Given the description of an element on the screen output the (x, y) to click on. 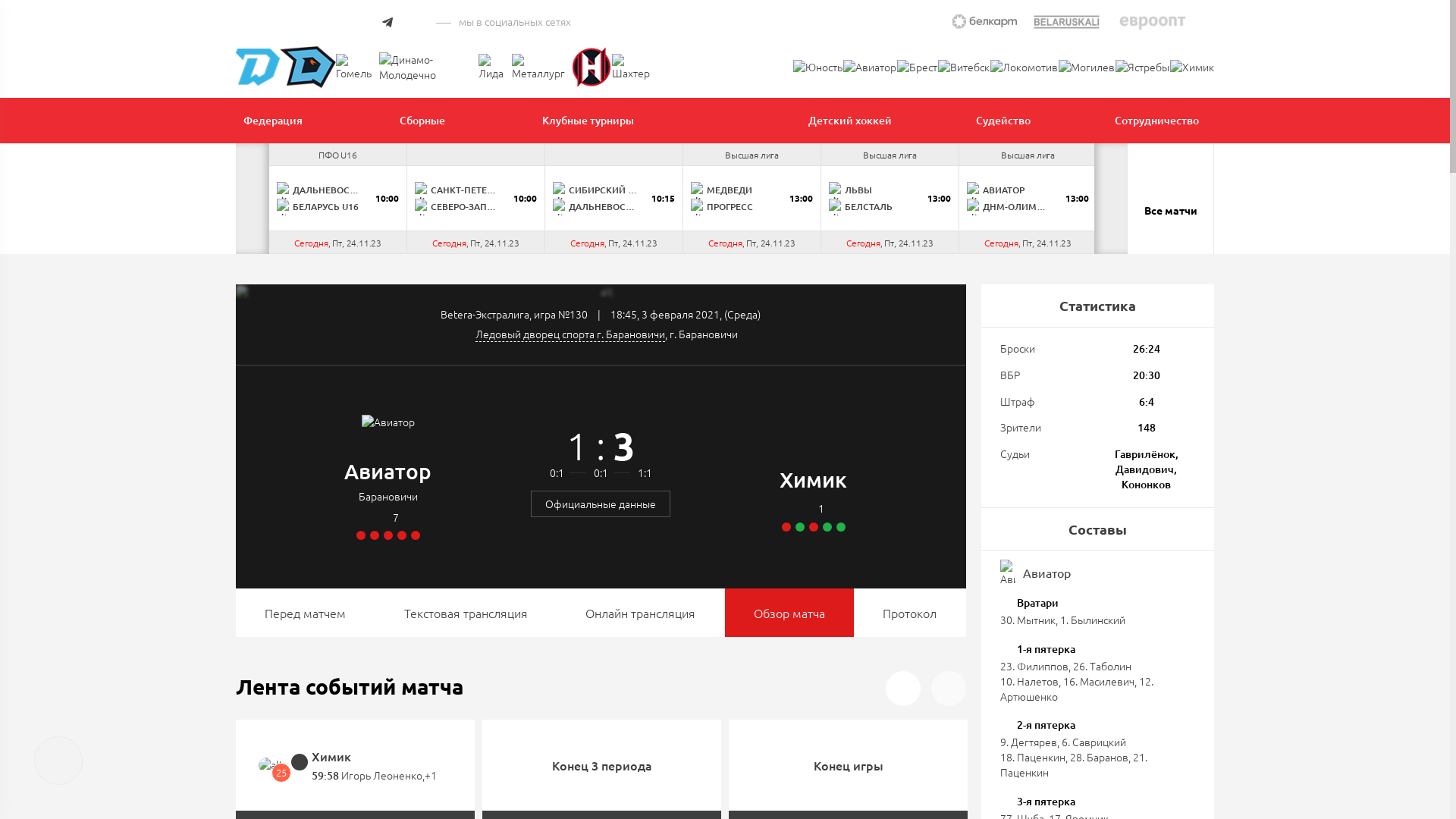
PREVIOUS Element type: text (902, 688)
NEXT Element type: text (1110, 198)
PREVIOUS Element type: text (252, 198)
7 Element type: text (387, 517)
1 : 3 Element type: text (600, 445)
NEXT Element type: text (948, 688)
1 Element type: text (813, 508)
